Given the description of an element on the screen output the (x, y) to click on. 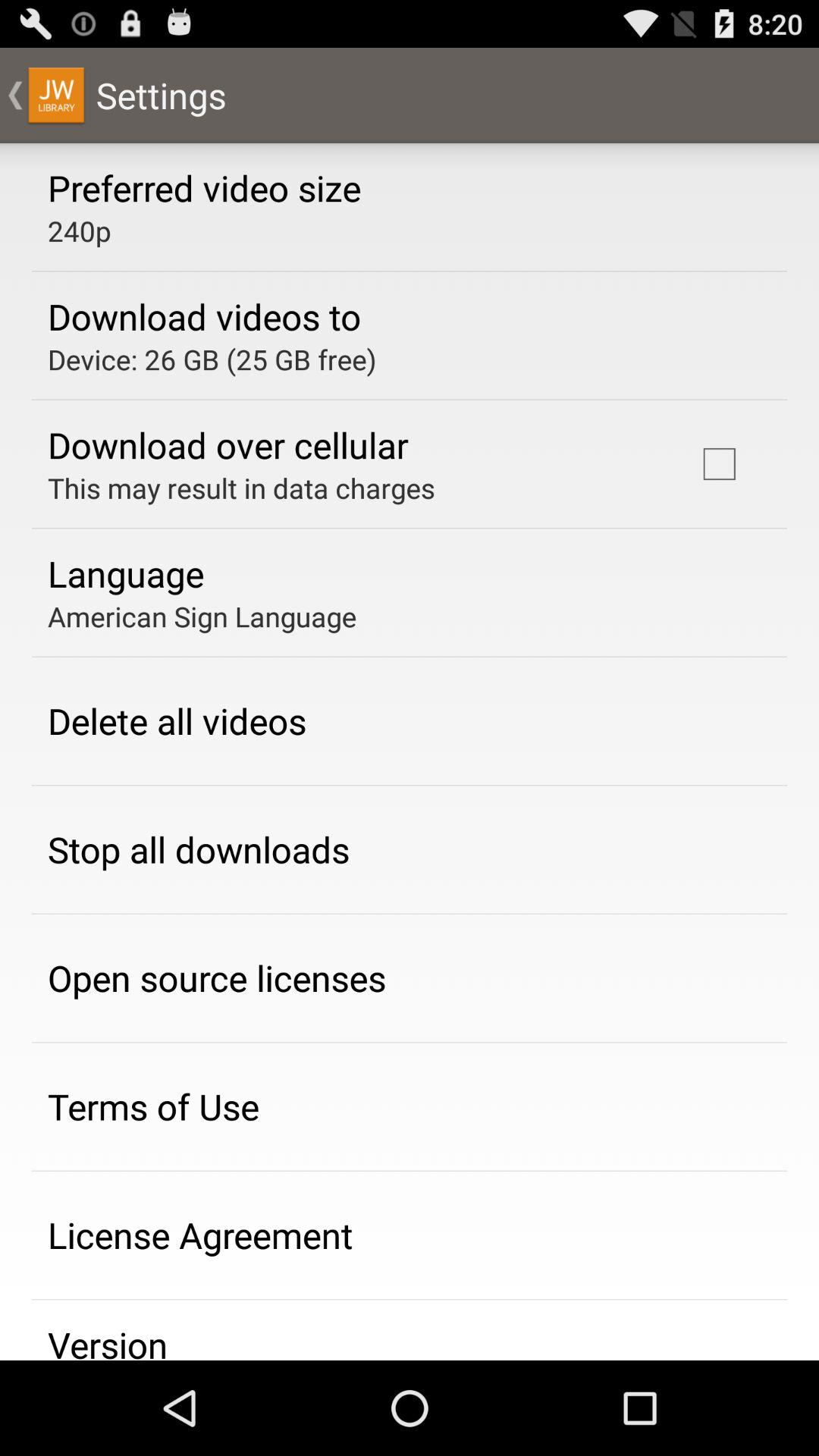
press icon at the top right corner (719, 463)
